Given the description of an element on the screen output the (x, y) to click on. 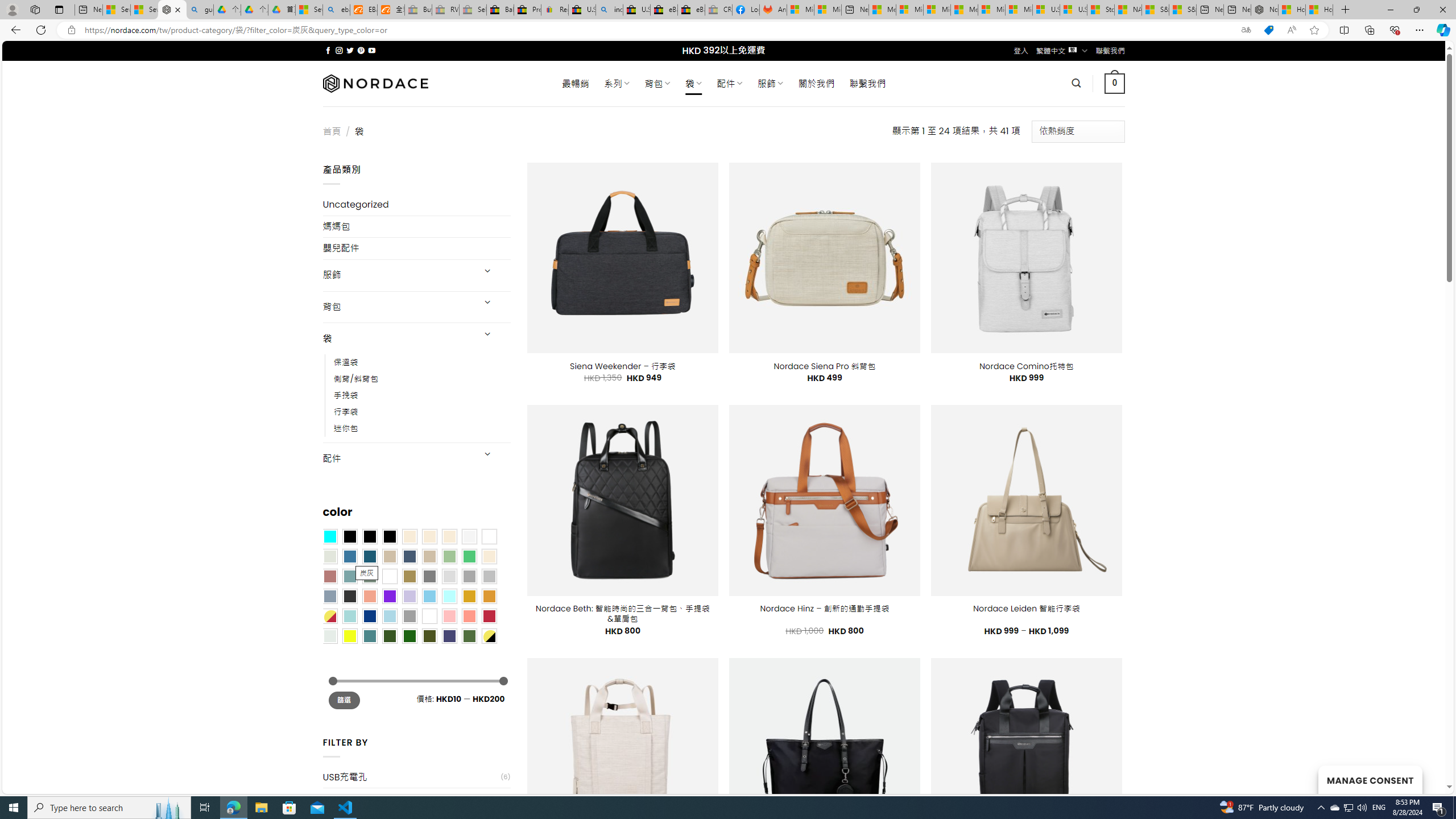
eBay Inc. Reports Third Quarter 2023 Results (691, 9)
